Given the description of an element on the screen output the (x, y) to click on. 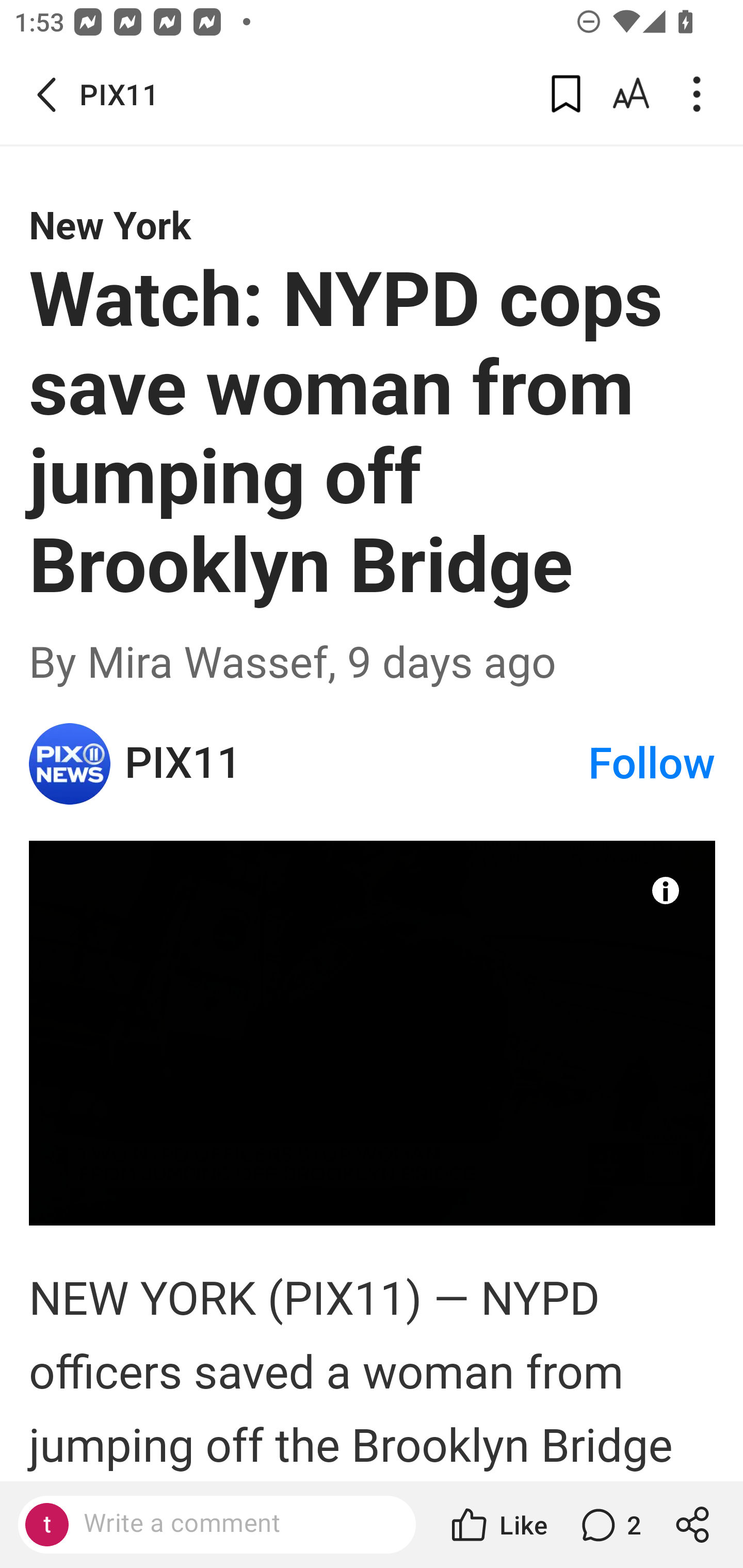
PIX11 (70, 763)
PIX11 (355, 763)
Follow (651, 763)
Like (497, 1524)
2 (608, 1524)
Write a comment (234, 1523)
